Given the description of an element on the screen output the (x, y) to click on. 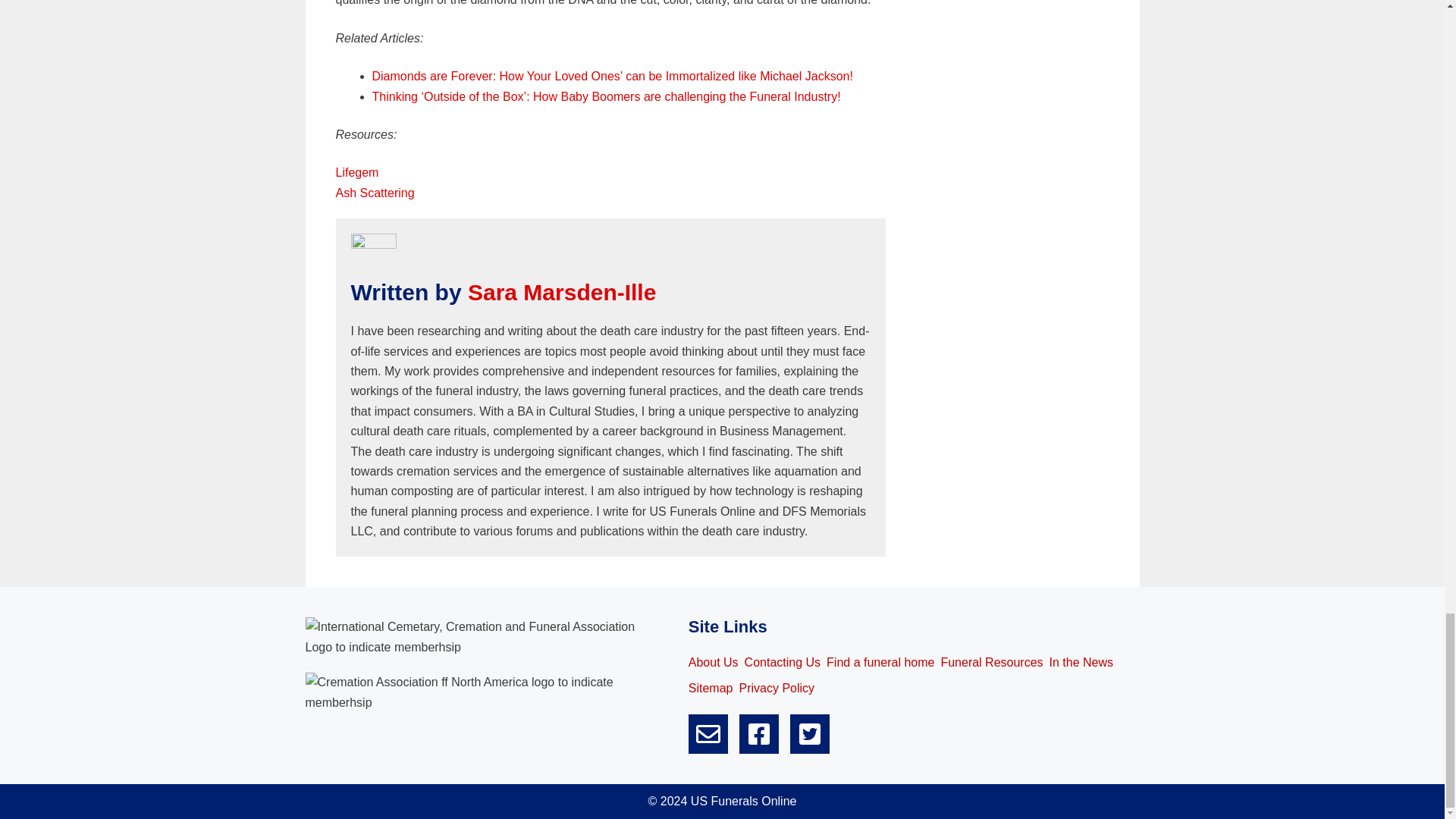
Ash Scattering (373, 192)
Sara Marsden-Ille (561, 292)
Sitemap (710, 688)
Funeral Resources (991, 662)
Posts by Sara Marsden-Ille (561, 292)
Contacting Us (782, 662)
About Us (713, 662)
In the News (1081, 662)
Find a funeral home (880, 662)
Lifegem (356, 172)
